Given the description of an element on the screen output the (x, y) to click on. 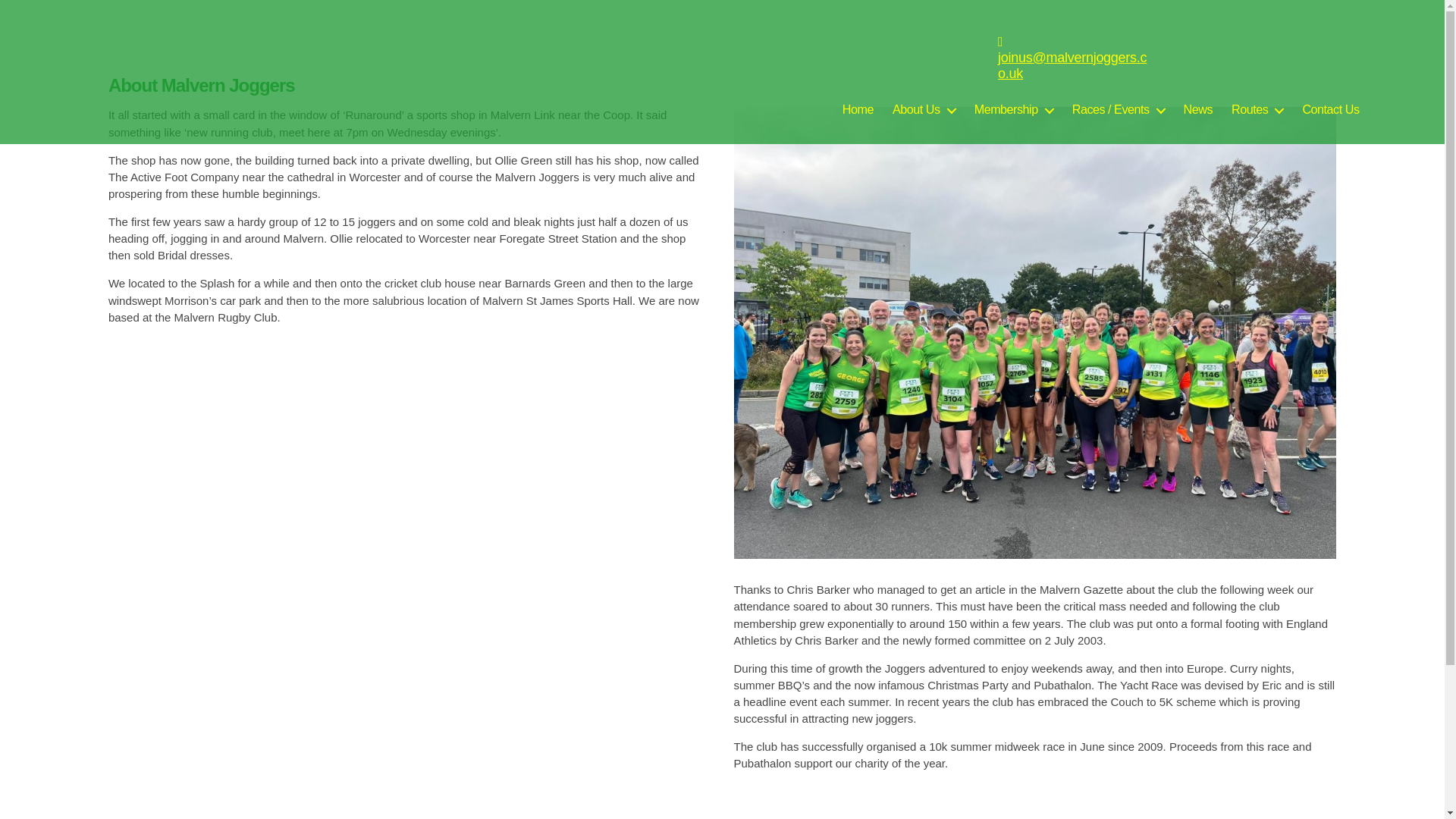
About Us (923, 109)
Contact Us (1329, 109)
Home (858, 109)
Membership (1013, 109)
News (1197, 109)
Routes (1256, 109)
